Given the description of an element on the screen output the (x, y) to click on. 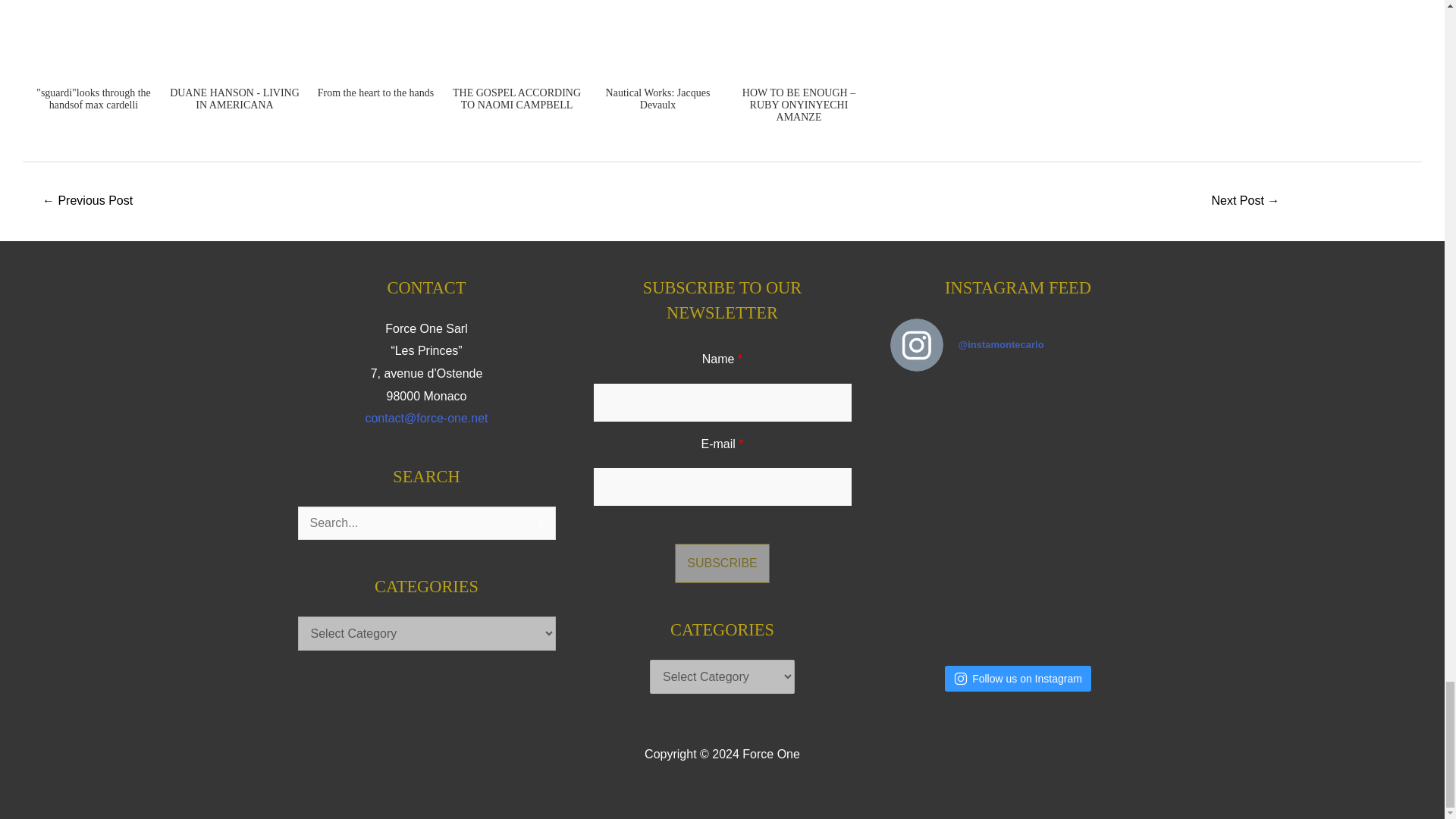
From the heart to the hands (375, 63)
Nautical Works: Jacques Devaulx (657, 63)
"sguardi"looks through the handsof max cardelli (93, 63)
DUANE HANSON - LIVING IN AMERICANA (234, 63)
THE GOSPEL ACCORDING TO NAOMI CAMPBELL (516, 63)
